Given the description of an element on the screen output the (x, y) to click on. 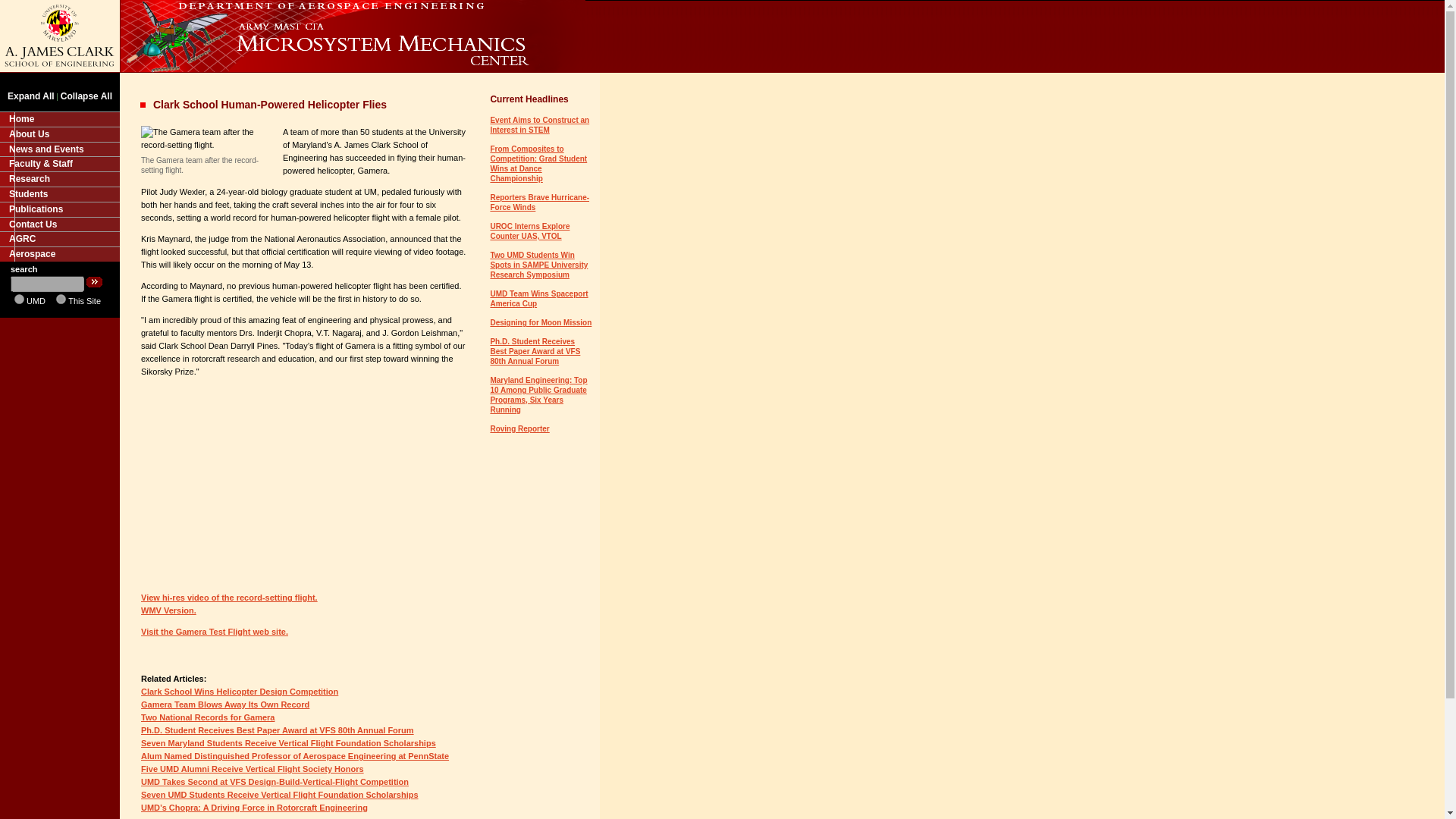
News and Events (59, 149)
WMV Version. (168, 610)
View hi-res video of the record-setting flight. (229, 596)
Publications (59, 209)
Aerospace (59, 253)
Five UMD Alumni Receive Vertical Flight Society Honors (252, 768)
Expand All (31, 95)
